Given the description of an element on the screen output the (x, y) to click on. 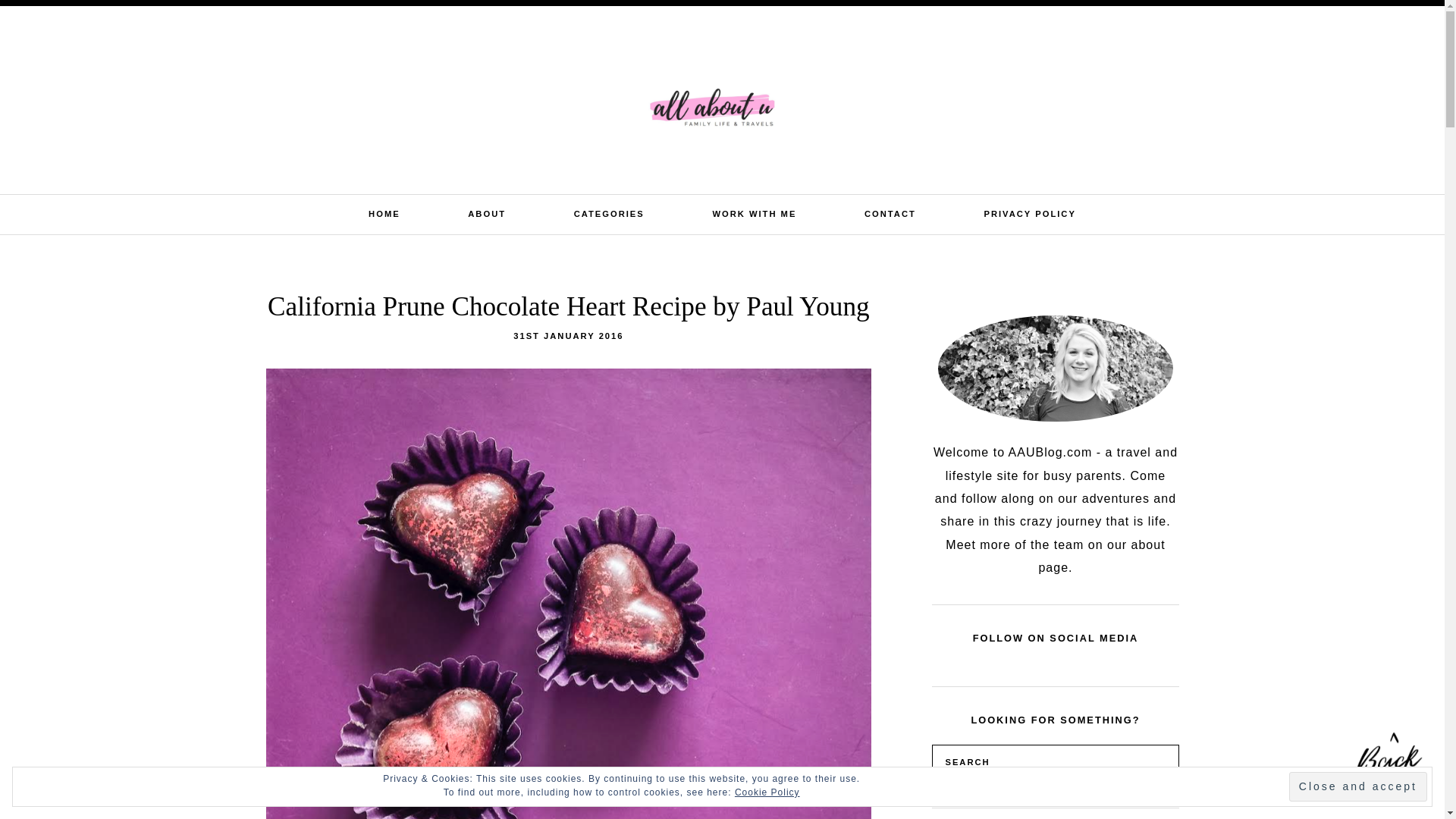
ABOUT (486, 214)
Close and accept (1357, 786)
WORK WITH ME (753, 214)
CONTACT (889, 214)
PRIVACY POLICY (1029, 214)
Search for: (1319, 23)
CATEGORIES (609, 214)
